Given the description of an element on the screen output the (x, y) to click on. 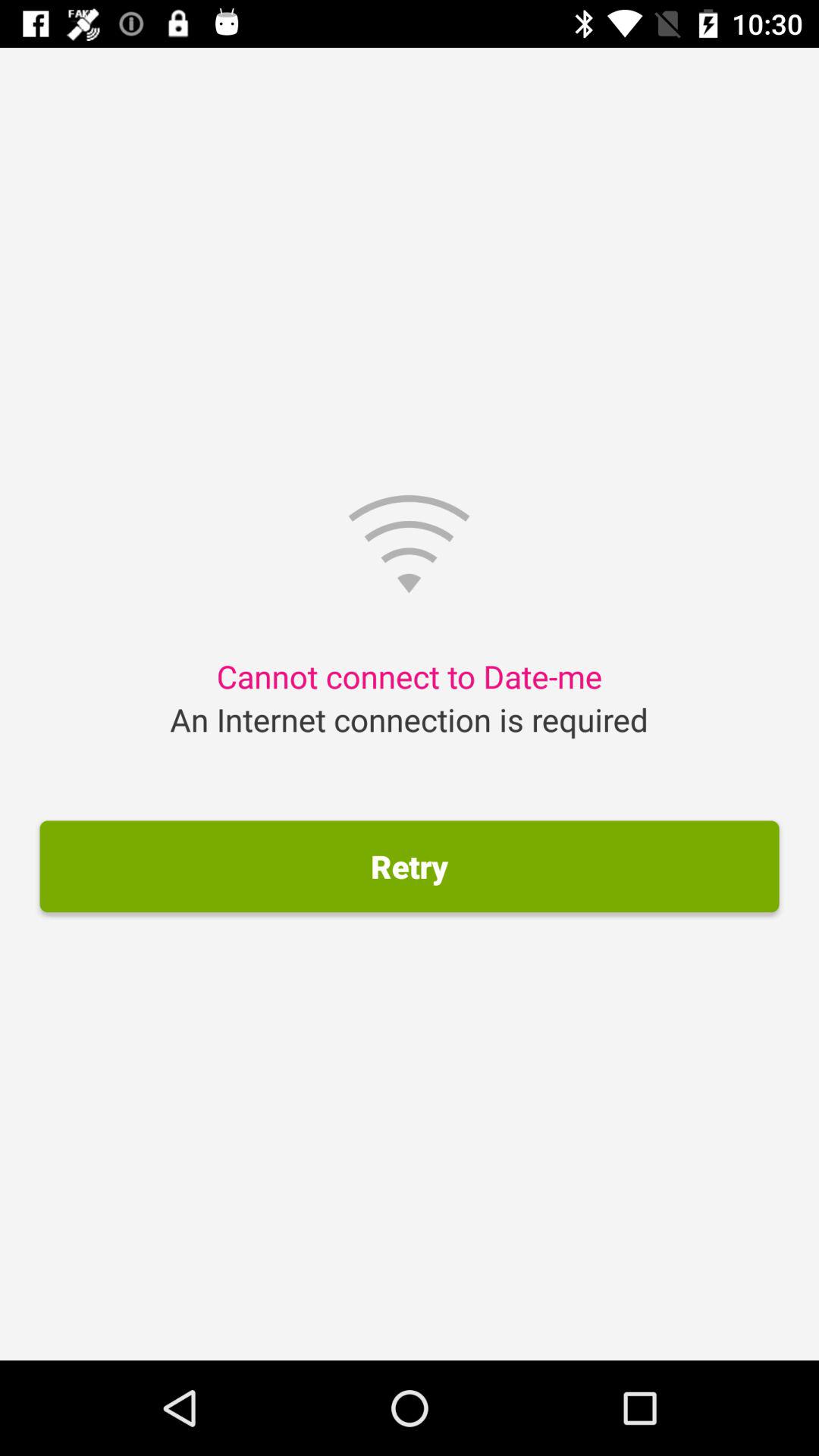
turn off item below an internet connection icon (409, 866)
